Given the description of an element on the screen output the (x, y) to click on. 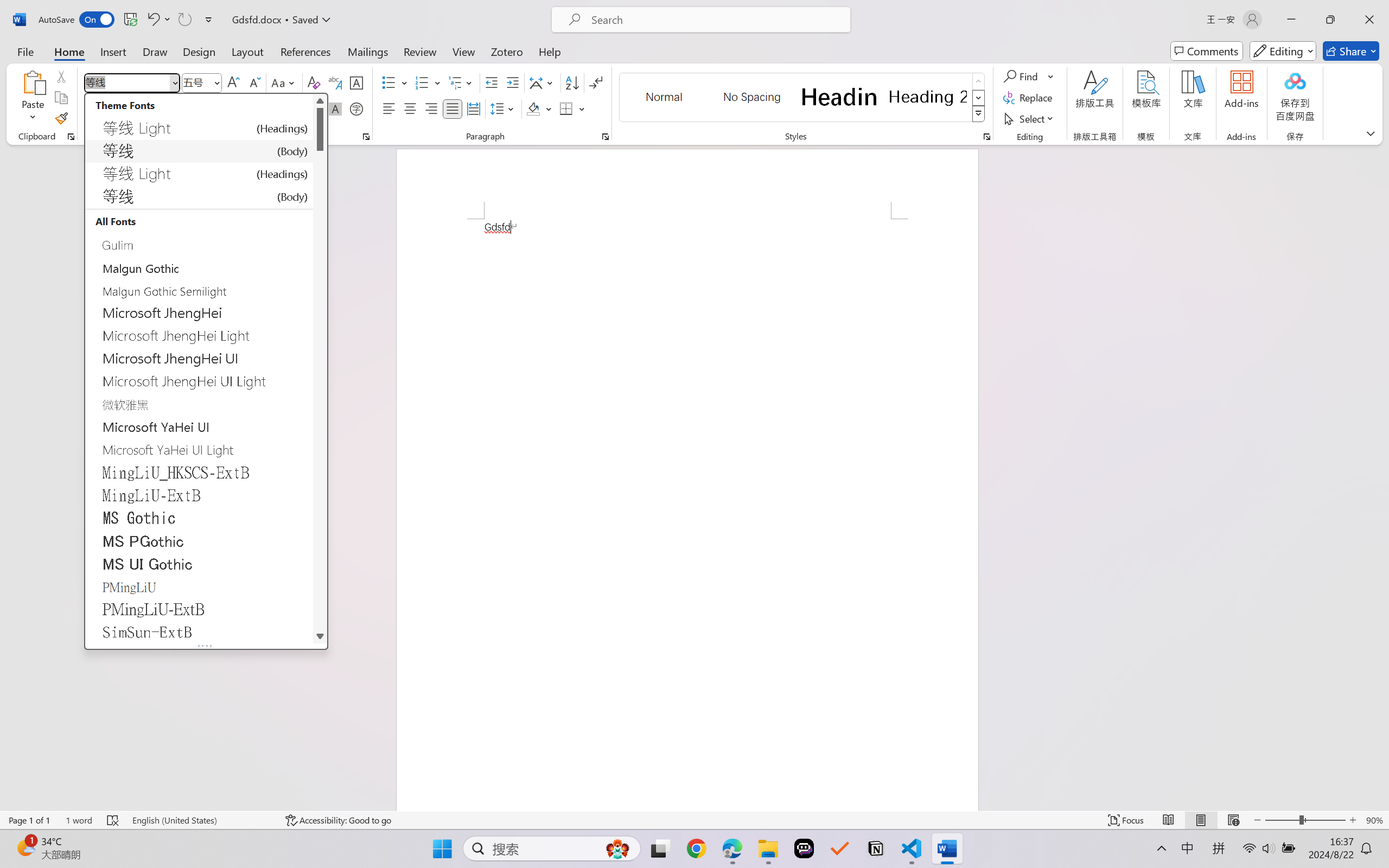
Shrink Font (253, 82)
MS PGothic (198, 540)
PMingLiU (198, 586)
Class: NetUIScrollBar (319, 368)
Font Color (308, 108)
Decrease Indent (491, 82)
Font... (365, 136)
Microsoft search (715, 19)
Malgun Gothic Semilight (198, 290)
Page 1 content (687, 514)
Microsoft JhengHei (198, 313)
